Given the description of an element on the screen output the (x, y) to click on. 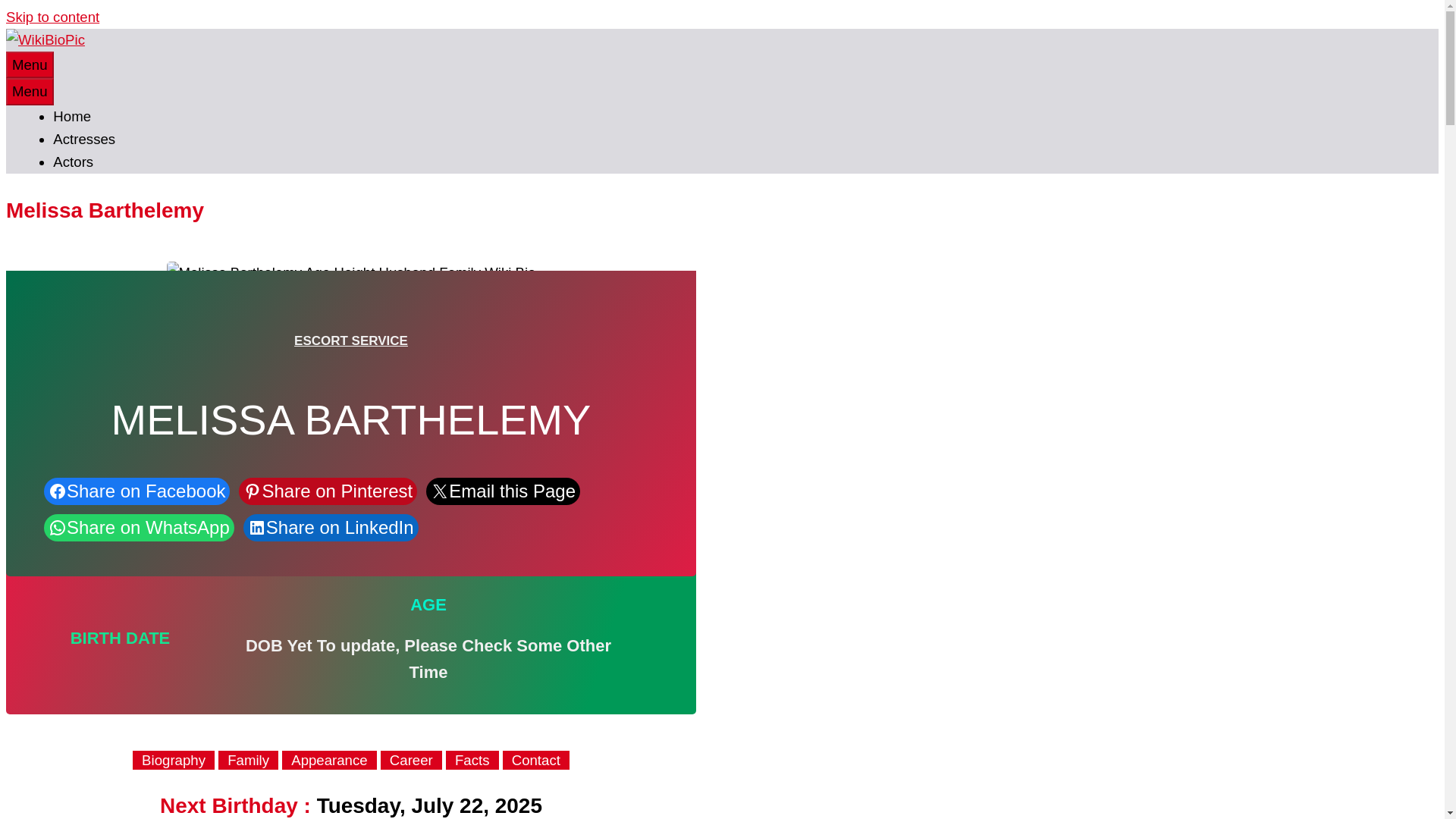
Appearance (328, 760)
Actors (72, 161)
Home (71, 116)
Biography (173, 760)
Menu (29, 91)
Skip to content (52, 17)
Skip to content (52, 17)
Share on WhatsApp (138, 527)
Actresses (83, 139)
Contact (535, 760)
Family (248, 760)
Career (411, 760)
Share on Facebook (136, 491)
Share on Pinterest (327, 491)
ESCORT SERVICE (350, 340)
